Given the description of an element on the screen output the (x, y) to click on. 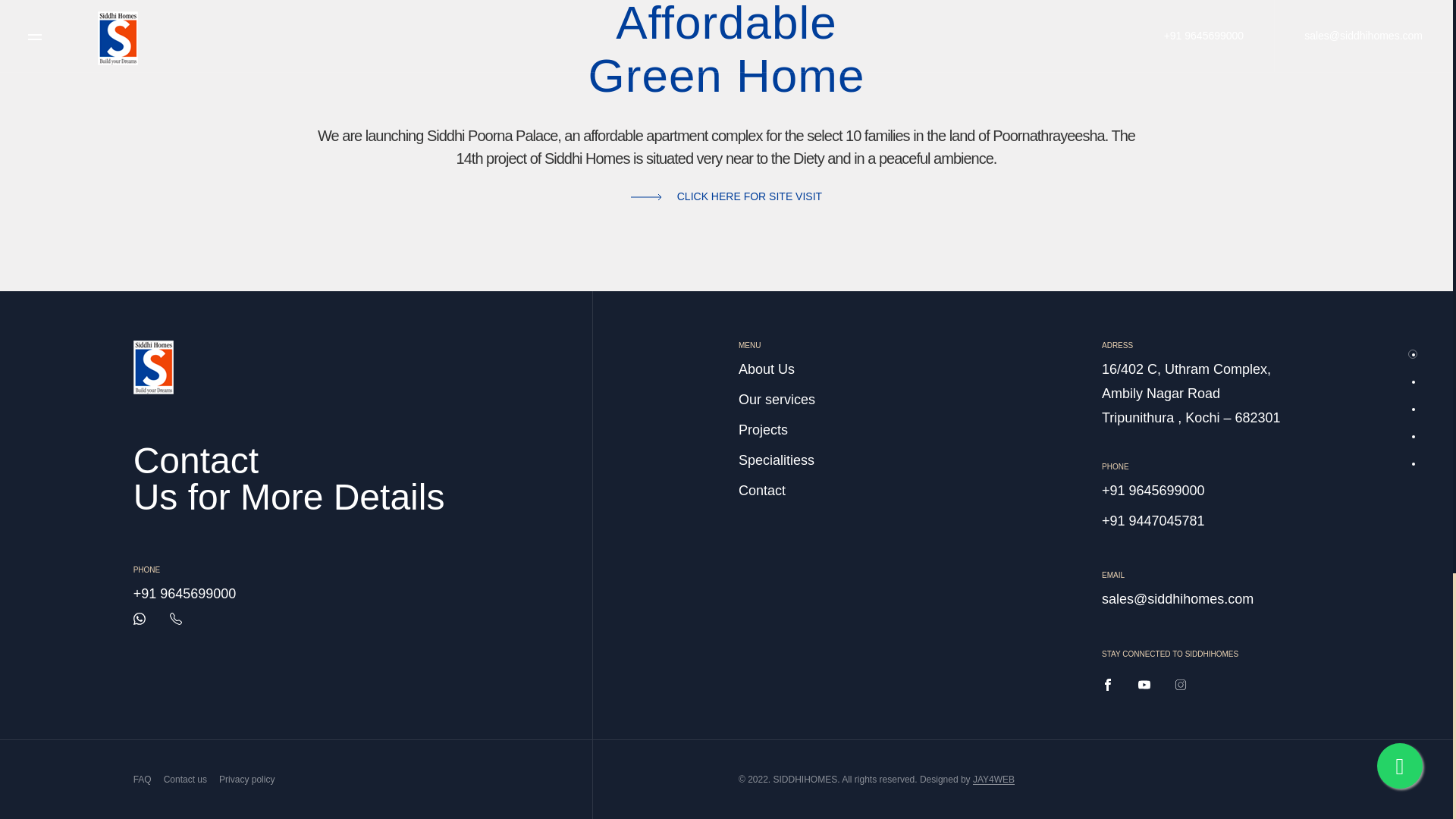
Instagram (1180, 684)
Projects (762, 430)
Youtube (1144, 684)
Call (176, 618)
Facebook (1107, 684)
Whatsapp (139, 618)
Our services (776, 400)
Specialitiess (775, 460)
Contact (762, 491)
CLICK HERE FOR SITE VISIT (726, 195)
About Us (766, 369)
